Given the description of an element on the screen output the (x, y) to click on. 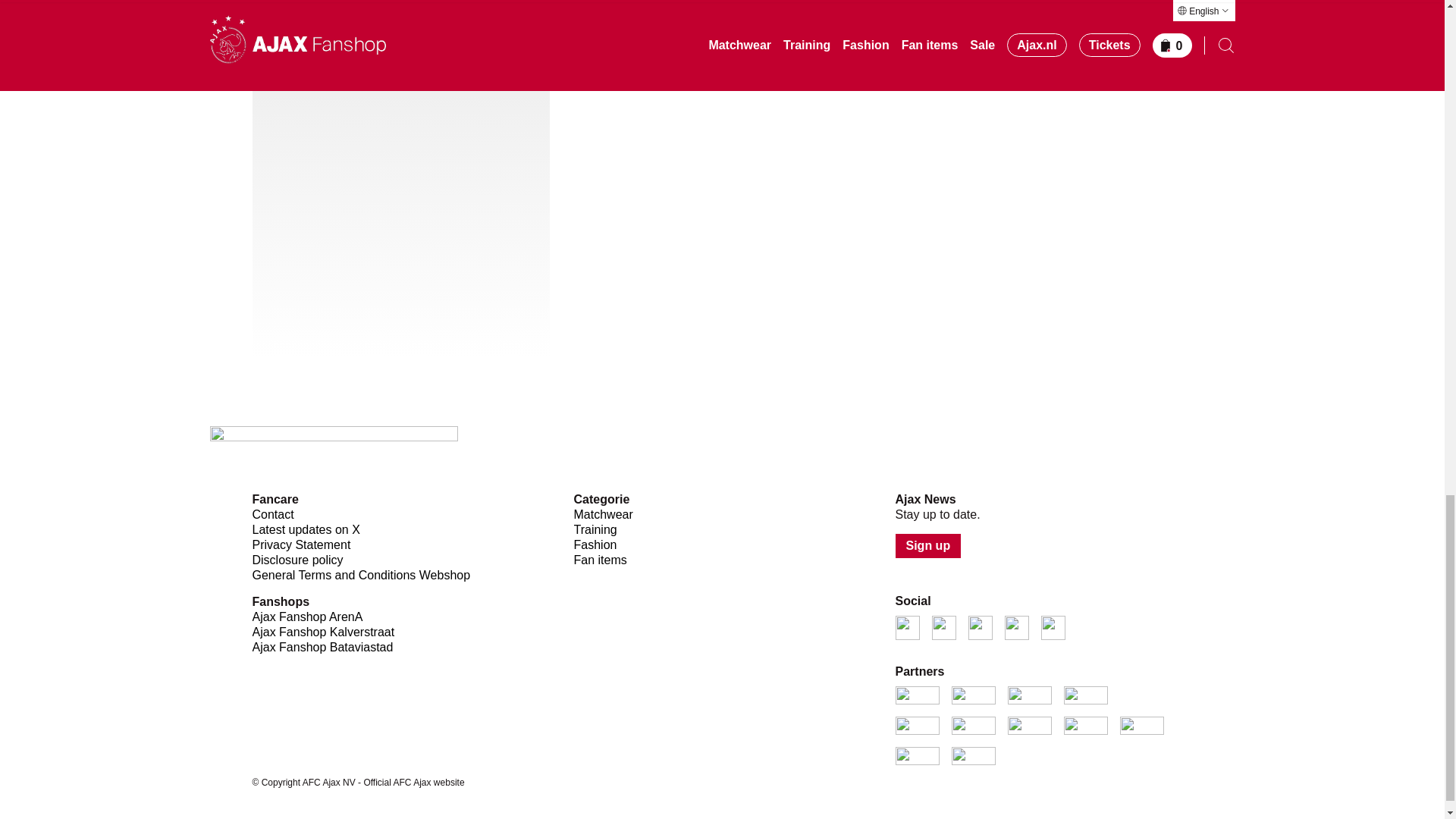
Instagram (943, 627)
Acronis (1084, 695)
Youtube (1015, 627)
BUD (917, 725)
Curacao (972, 725)
Twitter (906, 627)
Facebook (979, 627)
ABN Amro (1029, 695)
Ziggo (917, 695)
TikTok (1052, 627)
Vriendenloterij (1029, 725)
Sandals (1084, 725)
Adidas (972, 695)
